Given the description of an element on the screen output the (x, y) to click on. 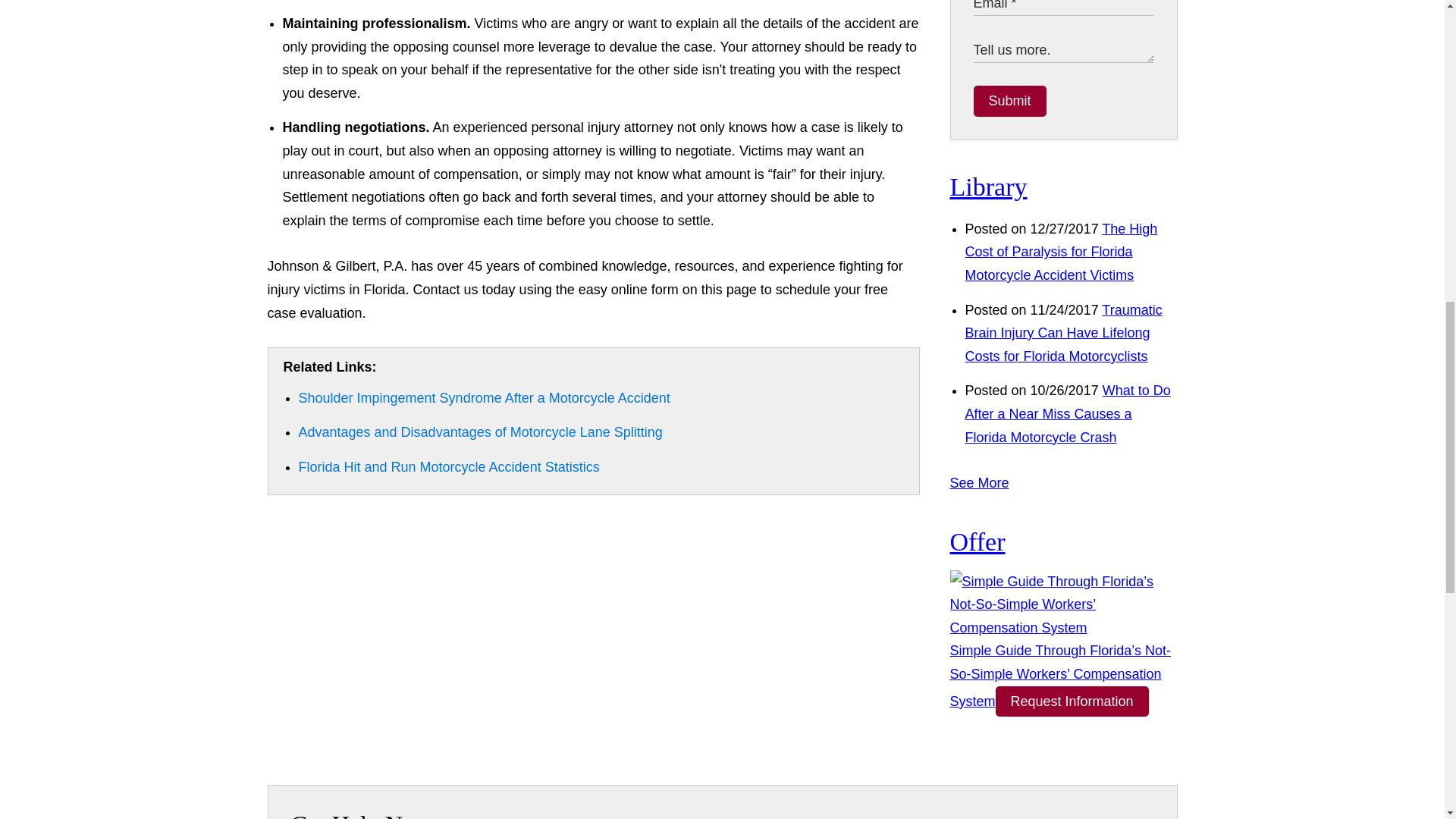
Library (987, 186)
Florida Hit and Run Motorcycle Accident Statistics (448, 467)
Advantages and Disadvantages of Motorcycle Lane Splitting (480, 432)
Submit (1010, 101)
Shoulder Impingement Syndrome After a Motorcycle Accident (483, 397)
